Given the description of an element on the screen output the (x, y) to click on. 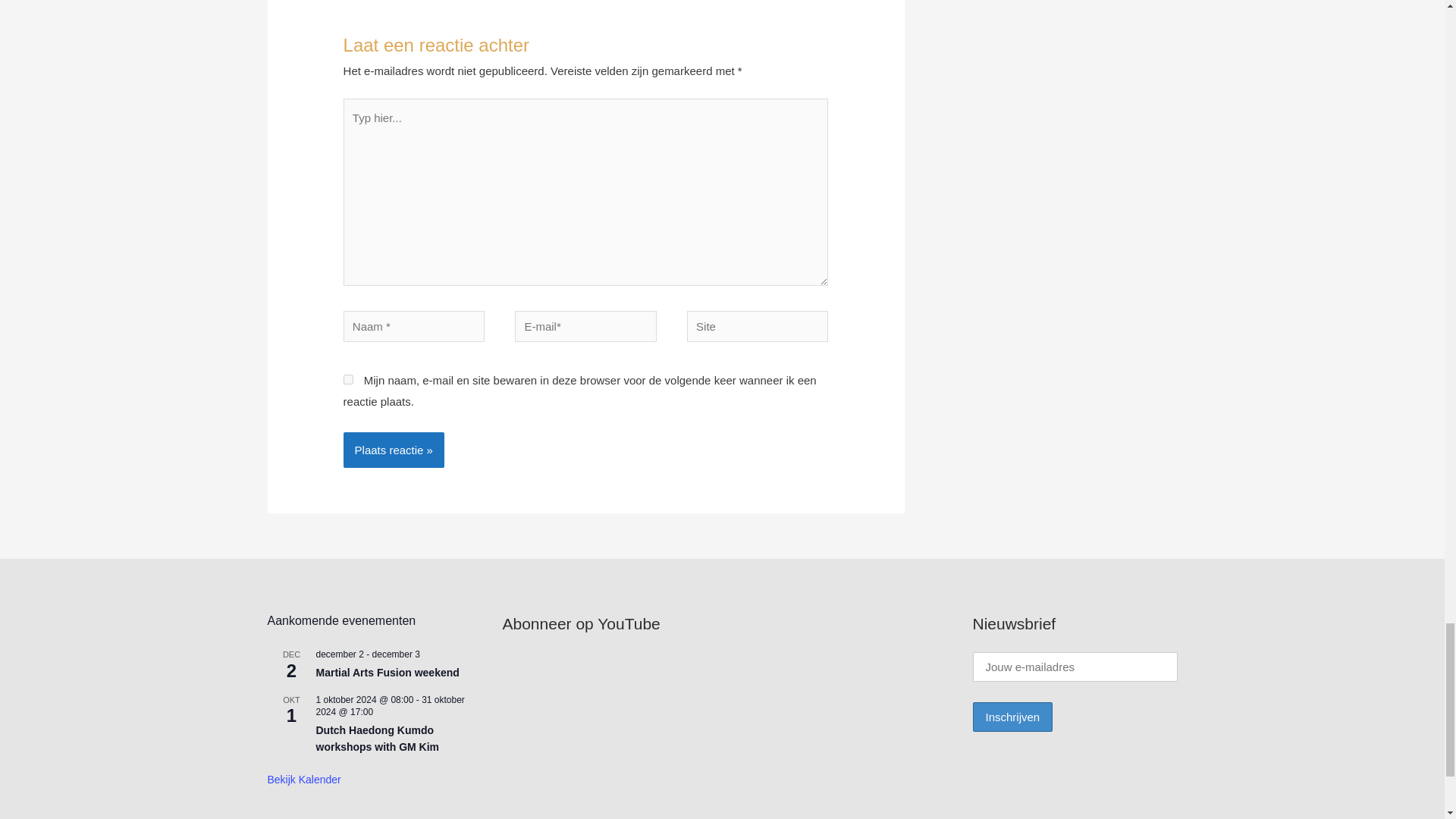
Dutch Haedong Kumdo workshops with GM Kim (377, 738)
Martial Arts Fusion weekend (386, 672)
Bekijk meer evenementen. (303, 779)
yes (348, 379)
Inschrijven (1012, 716)
